Given the description of an element on the screen output the (x, y) to click on. 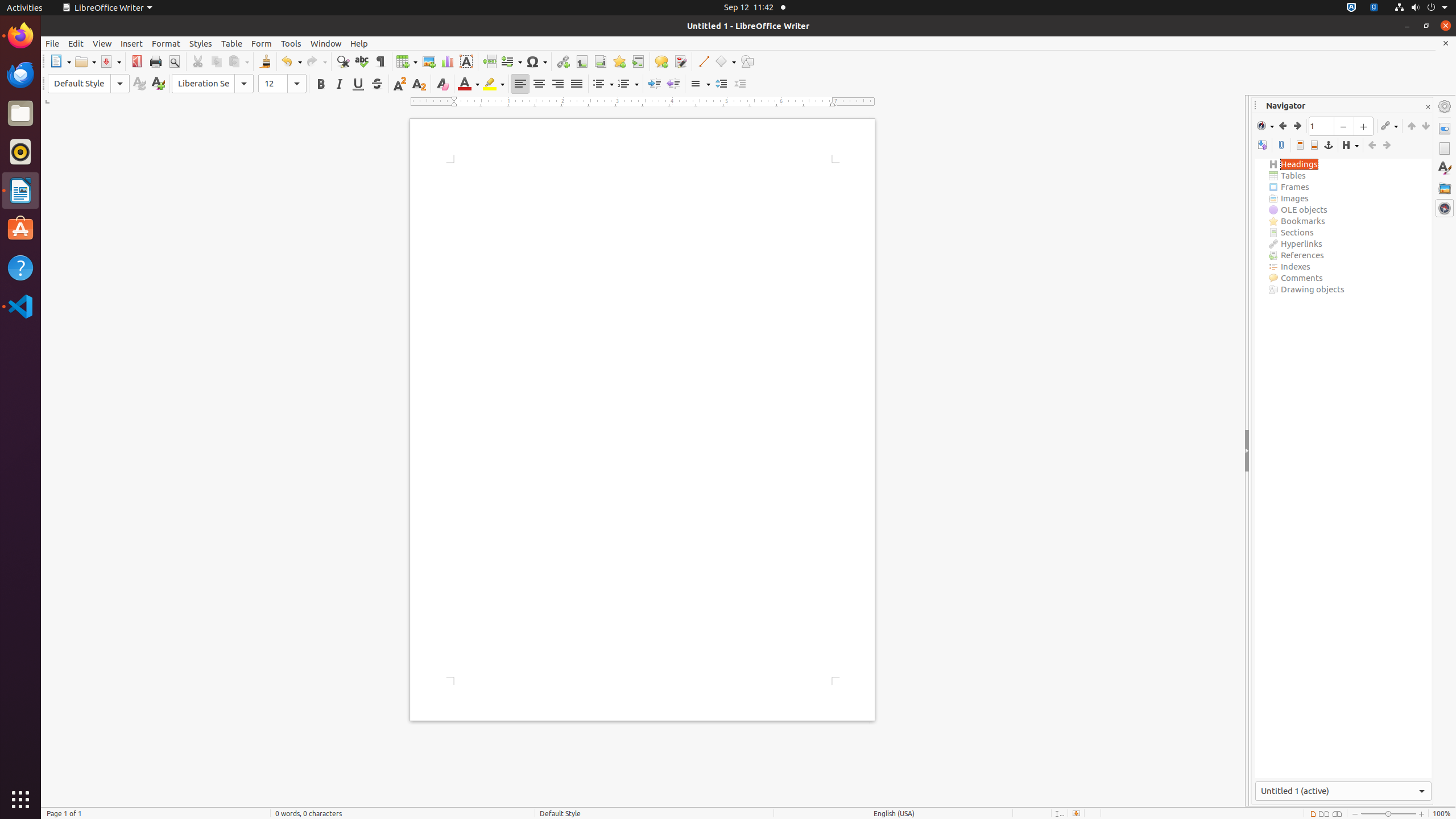
Line Spacing Element type: push-button (699, 83)
Set Reminder Element type: push-button (1281, 144)
Track Changes Functions Element type: toggle-button (679, 61)
Clear Element type: push-button (441, 83)
Paste Element type: push-button (237, 61)
